Given the description of an element on the screen output the (x, y) to click on. 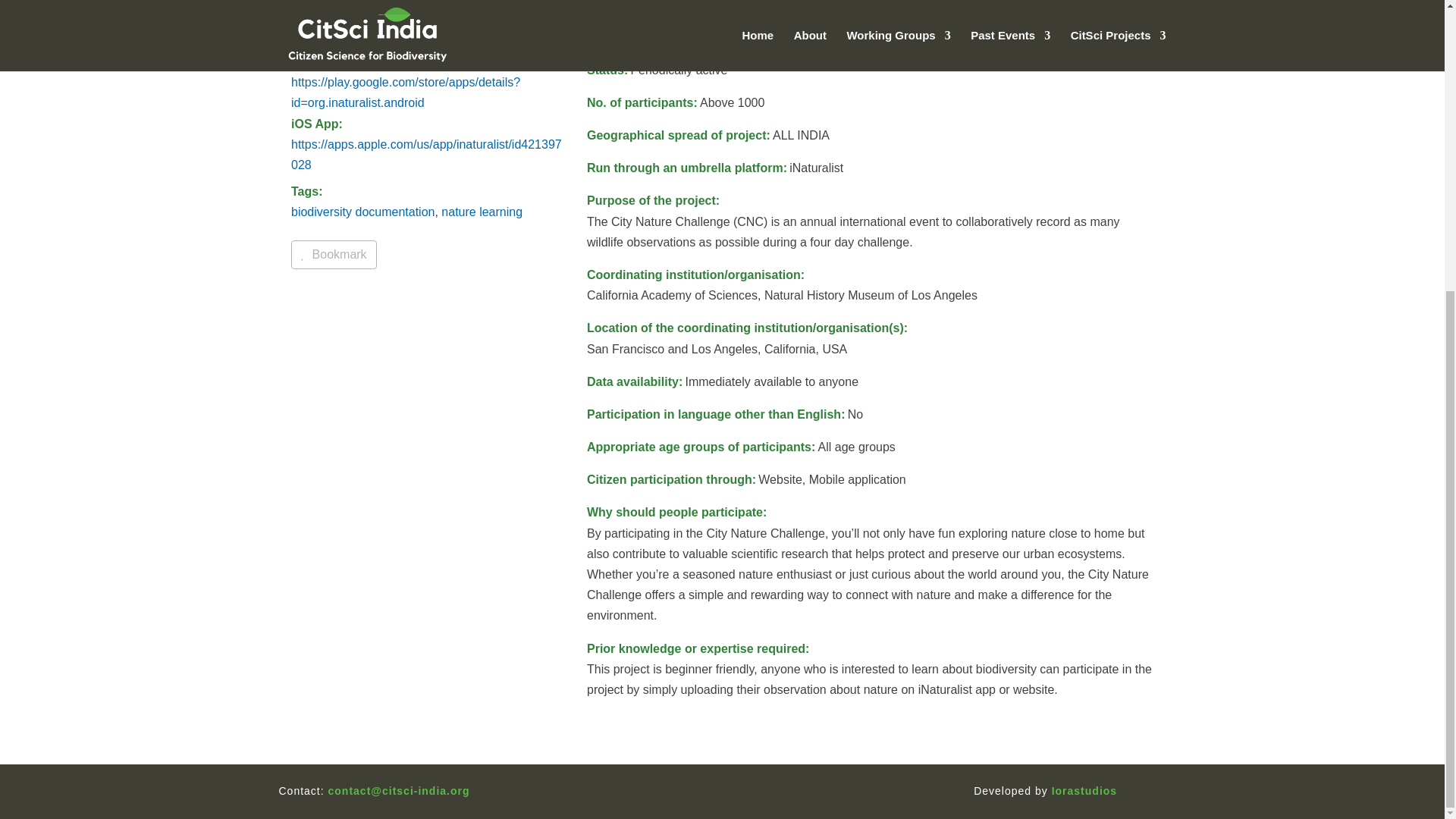
biodiversity documentation (362, 211)
YouTube (306, 41)
biodiversity documentation (362, 211)
nature learning (481, 211)
nature learning (481, 211)
Bookmark (334, 254)
